Given the description of an element on the screen output the (x, y) to click on. 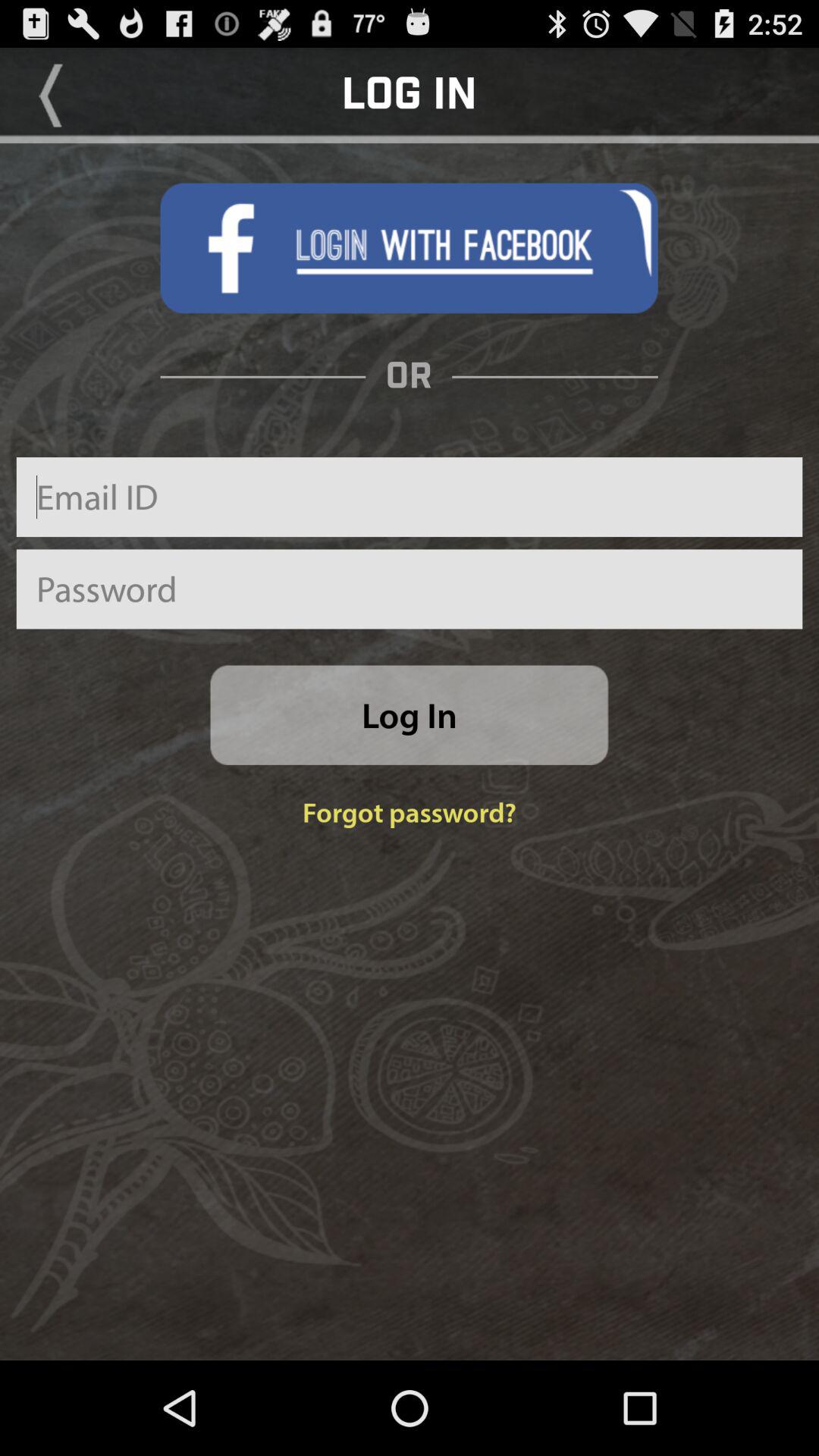
go back (50, 95)
